Given the description of an element on the screen output the (x, y) to click on. 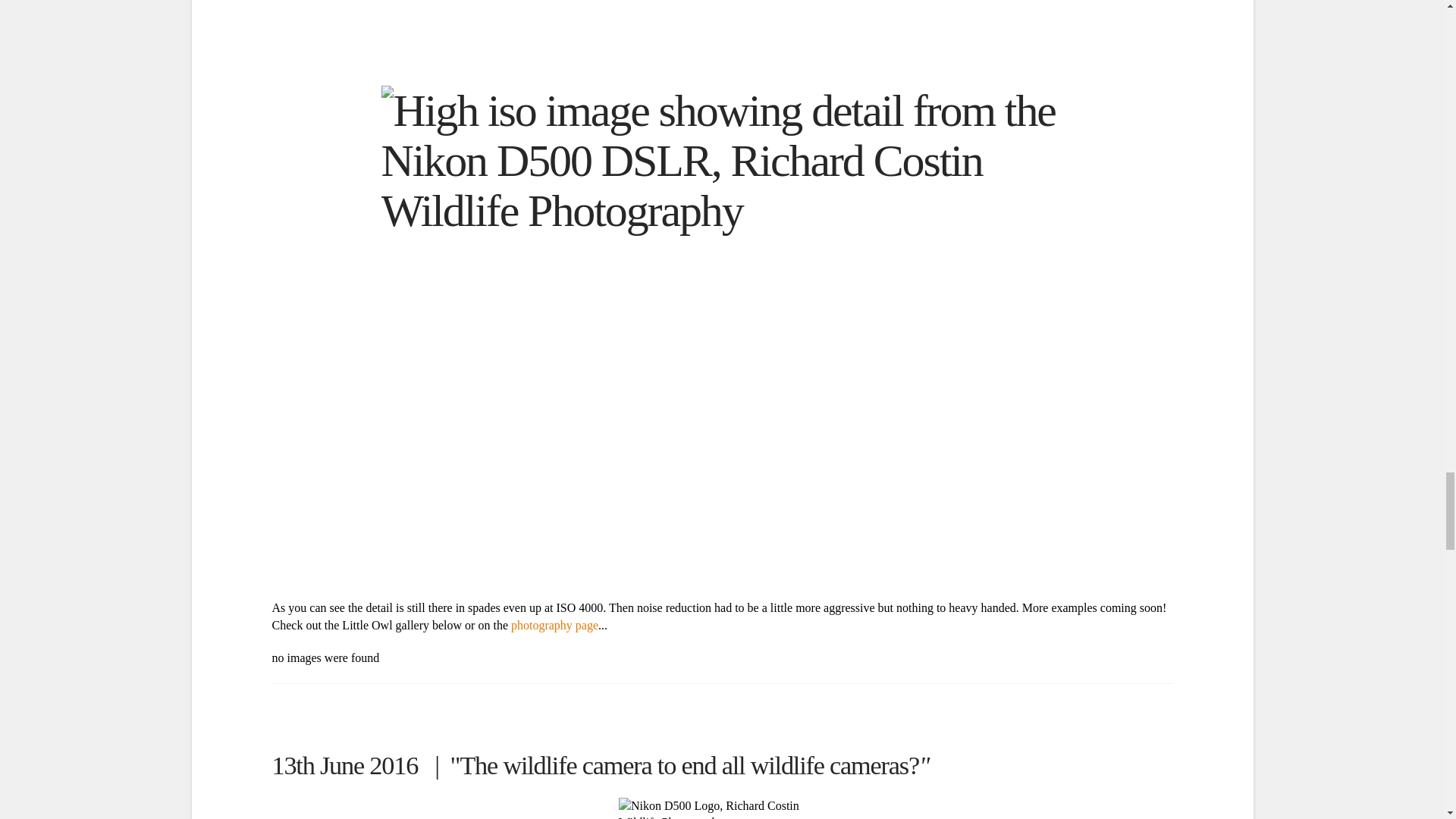
photography page (554, 625)
